Given the description of an element on the screen output the (x, y) to click on. 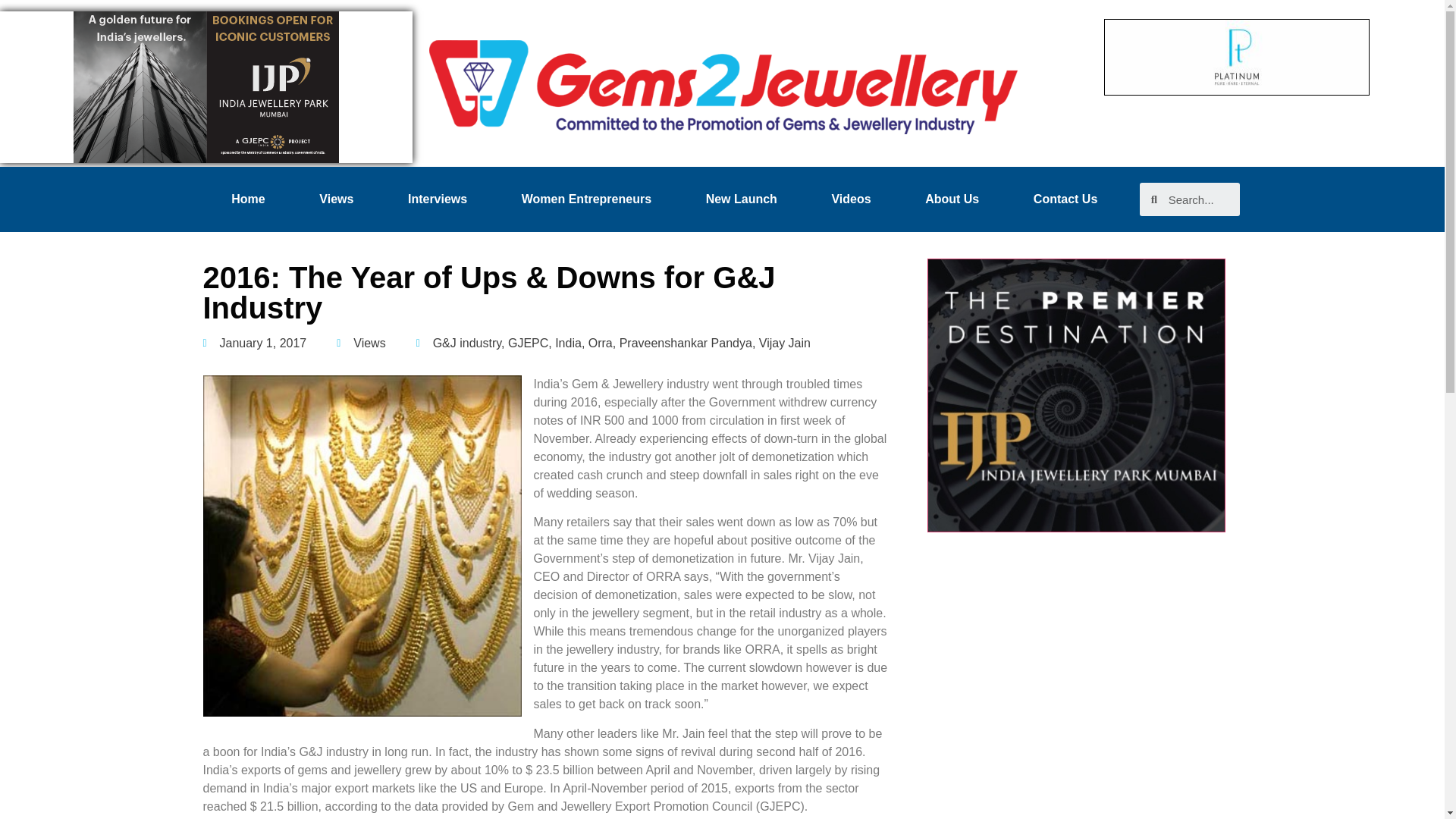
Home (248, 199)
GJEPC (528, 342)
New Launch (741, 199)
January 1, 2017 (255, 343)
Views (336, 199)
Orra (600, 342)
Women Entrepreneurs (586, 199)
Views (369, 342)
About Us (952, 199)
Praveenshankar Pandya (686, 342)
Interviews (437, 199)
Videos (851, 199)
Contact Us (1065, 199)
India (567, 342)
Vijay Jain (784, 342)
